Given the description of an element on the screen output the (x, y) to click on. 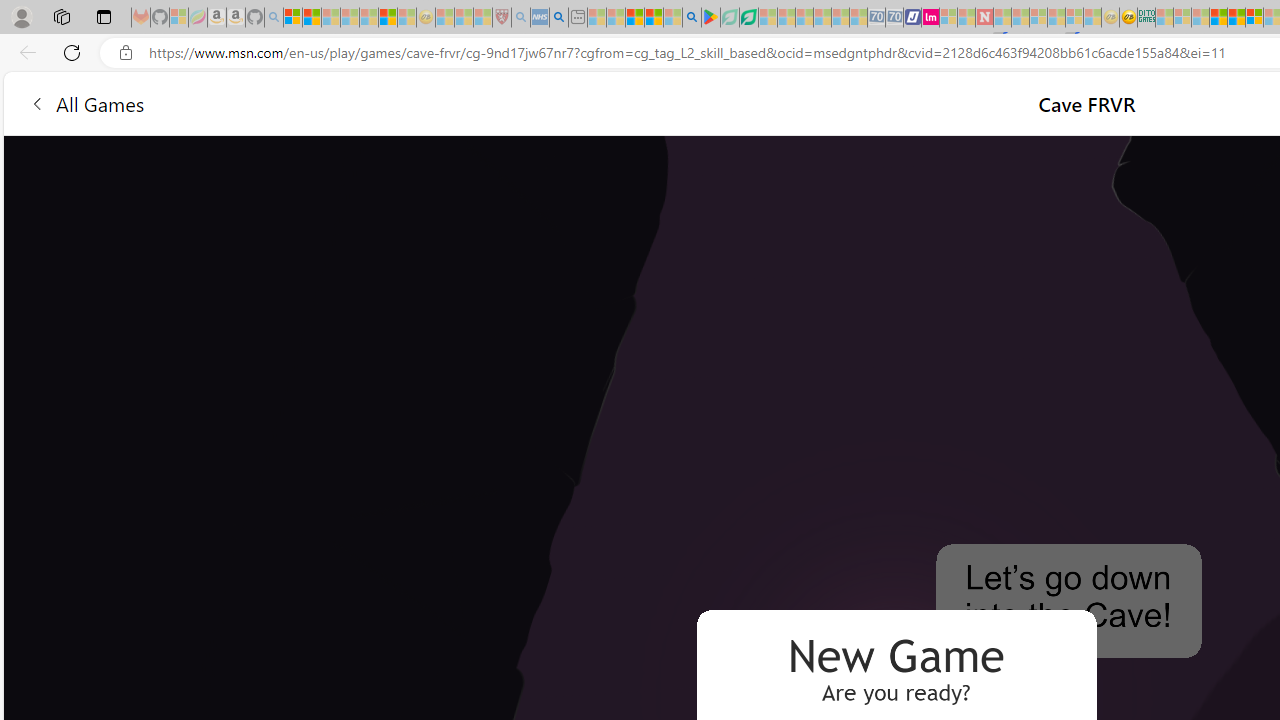
Bluey: Let's Play! - Apps on Google Play (710, 17)
